Given the description of an element on the screen output the (x, y) to click on. 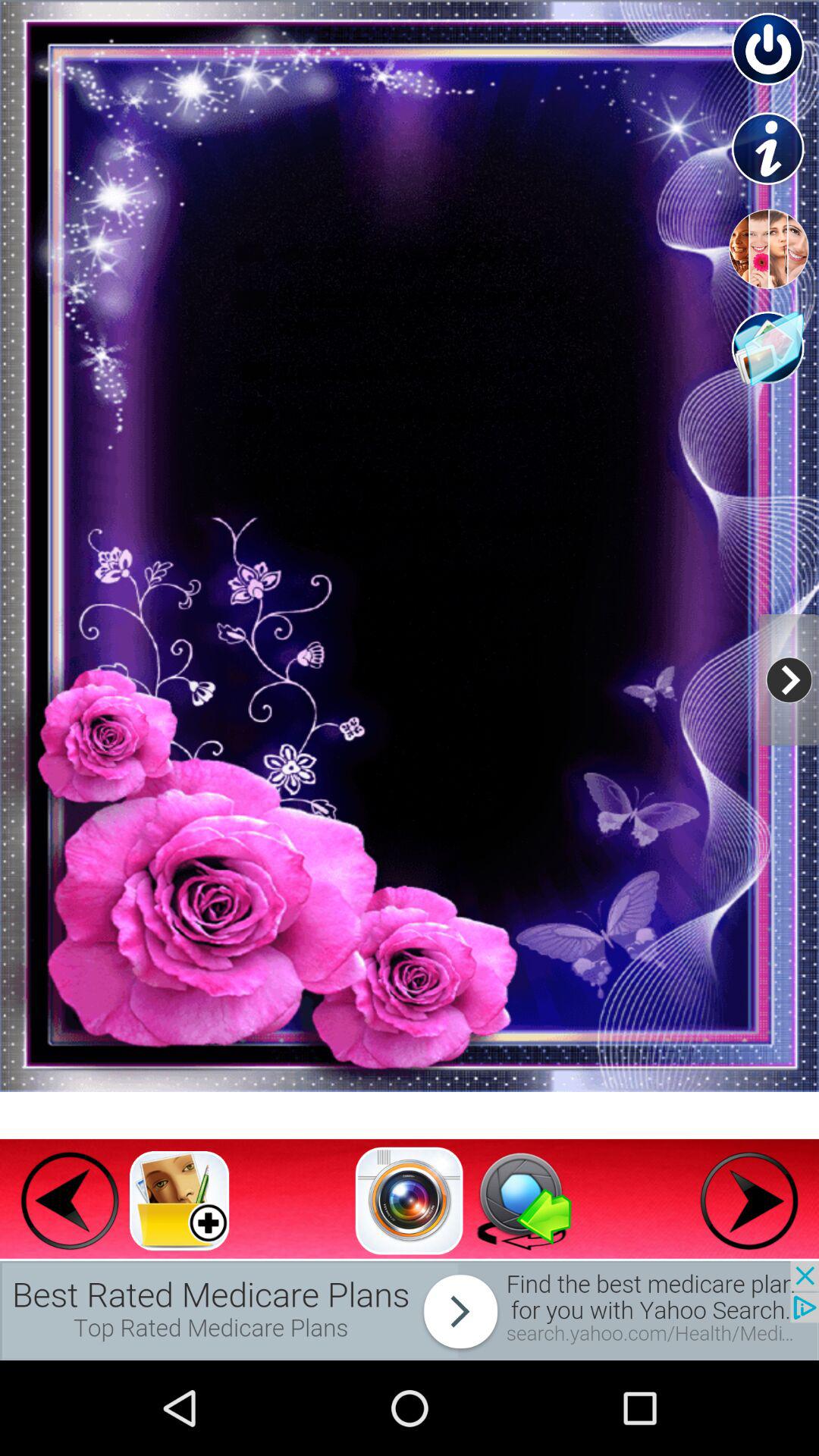
click on the backward icon which is left bottom of the screen (69, 1200)
select next option (749, 1200)
click on power button (769, 50)
second icon at top right corner (769, 149)
select 4th icon from right most top (769, 348)
click on image below information button (769, 248)
click on right arrow icon at right middle of page (789, 679)
